Given the description of an element on the screen output the (x, y) to click on. 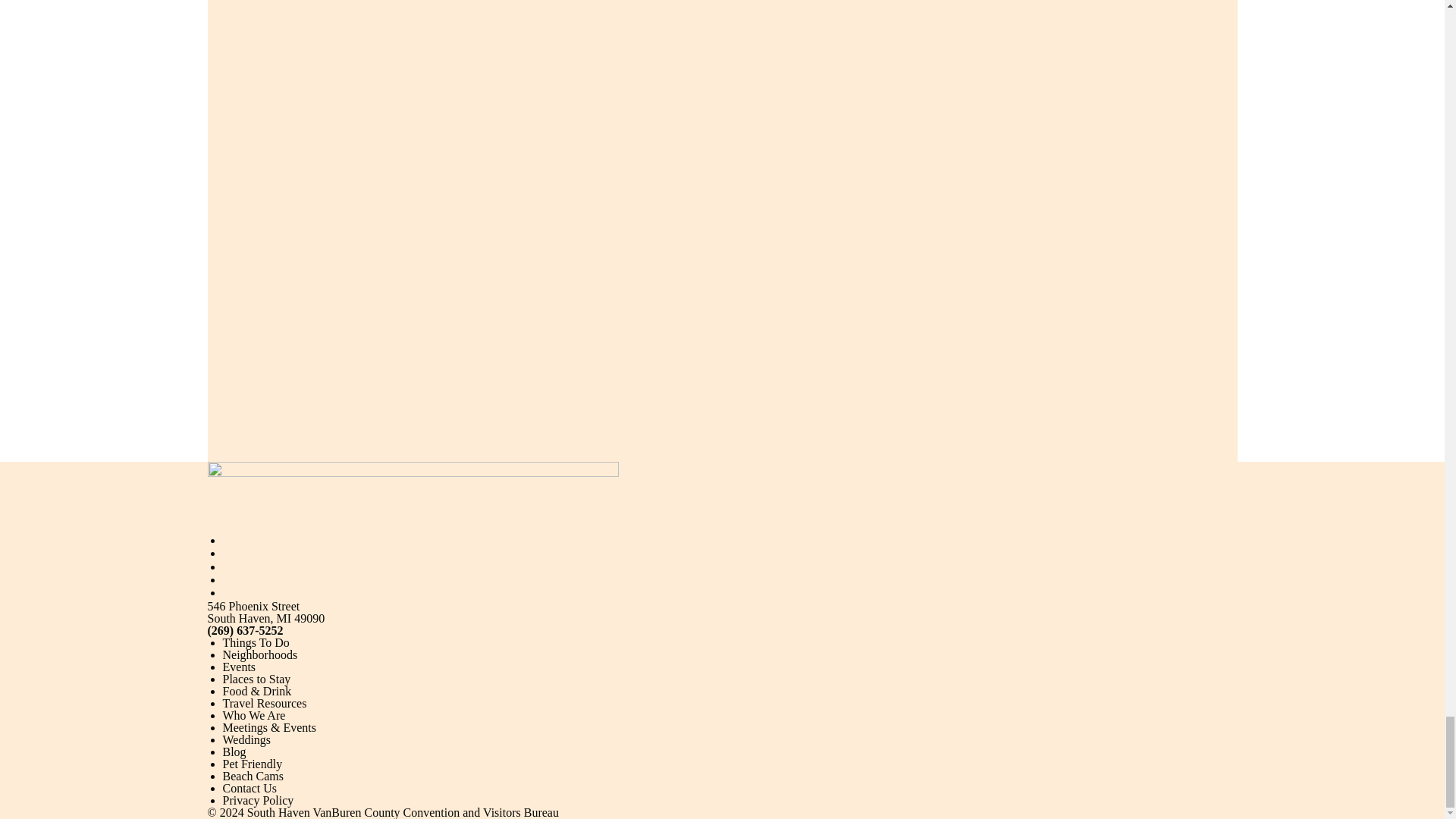
Things To Do (255, 642)
